Given the description of an element on the screen output the (x, y) to click on. 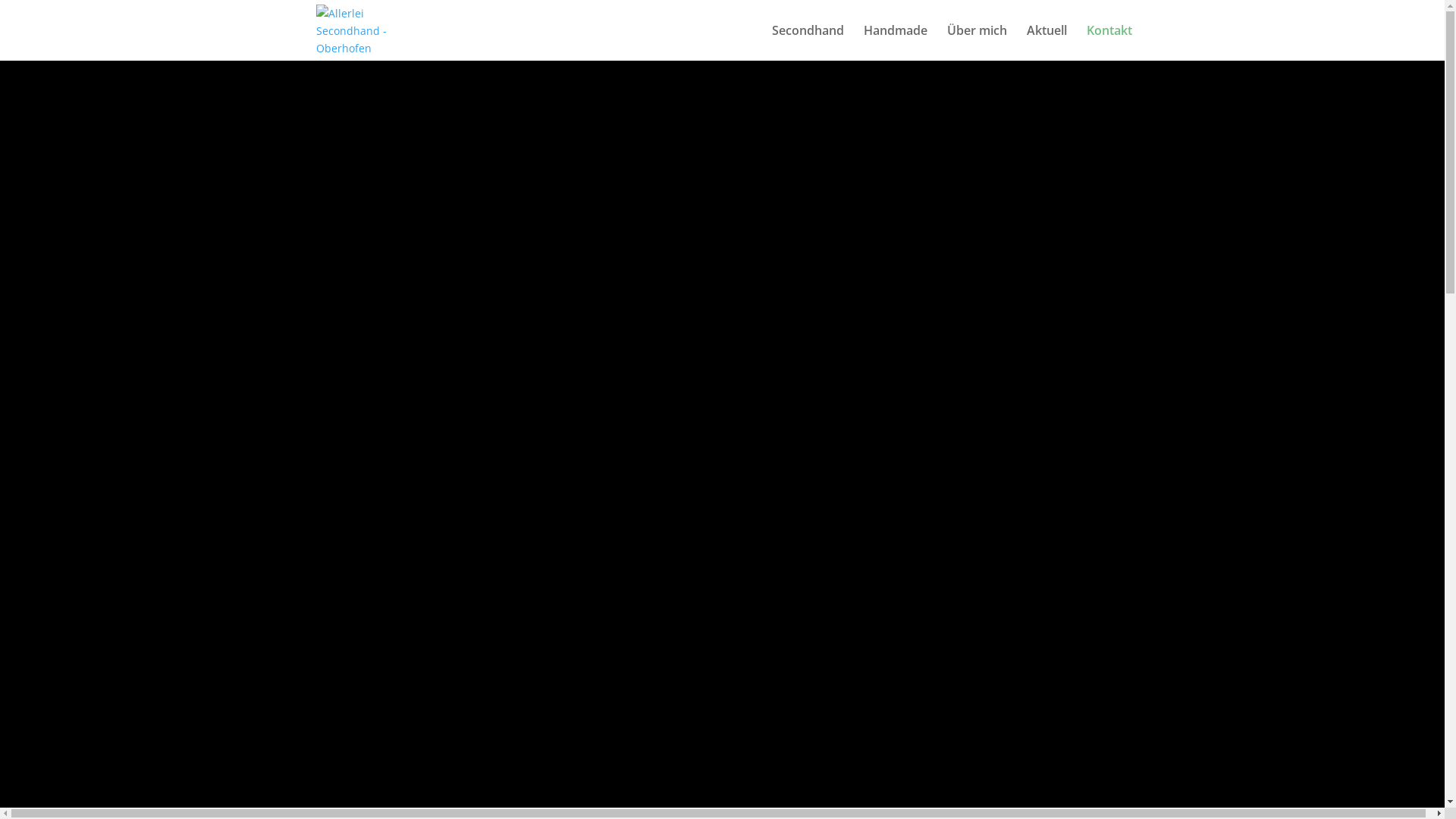
Kontakt Element type: text (1108, 42)
Aktuell Element type: text (1046, 42)
Handmade Element type: text (894, 42)
Secondhand Element type: text (807, 42)
